Given the description of an element on the screen output the (x, y) to click on. 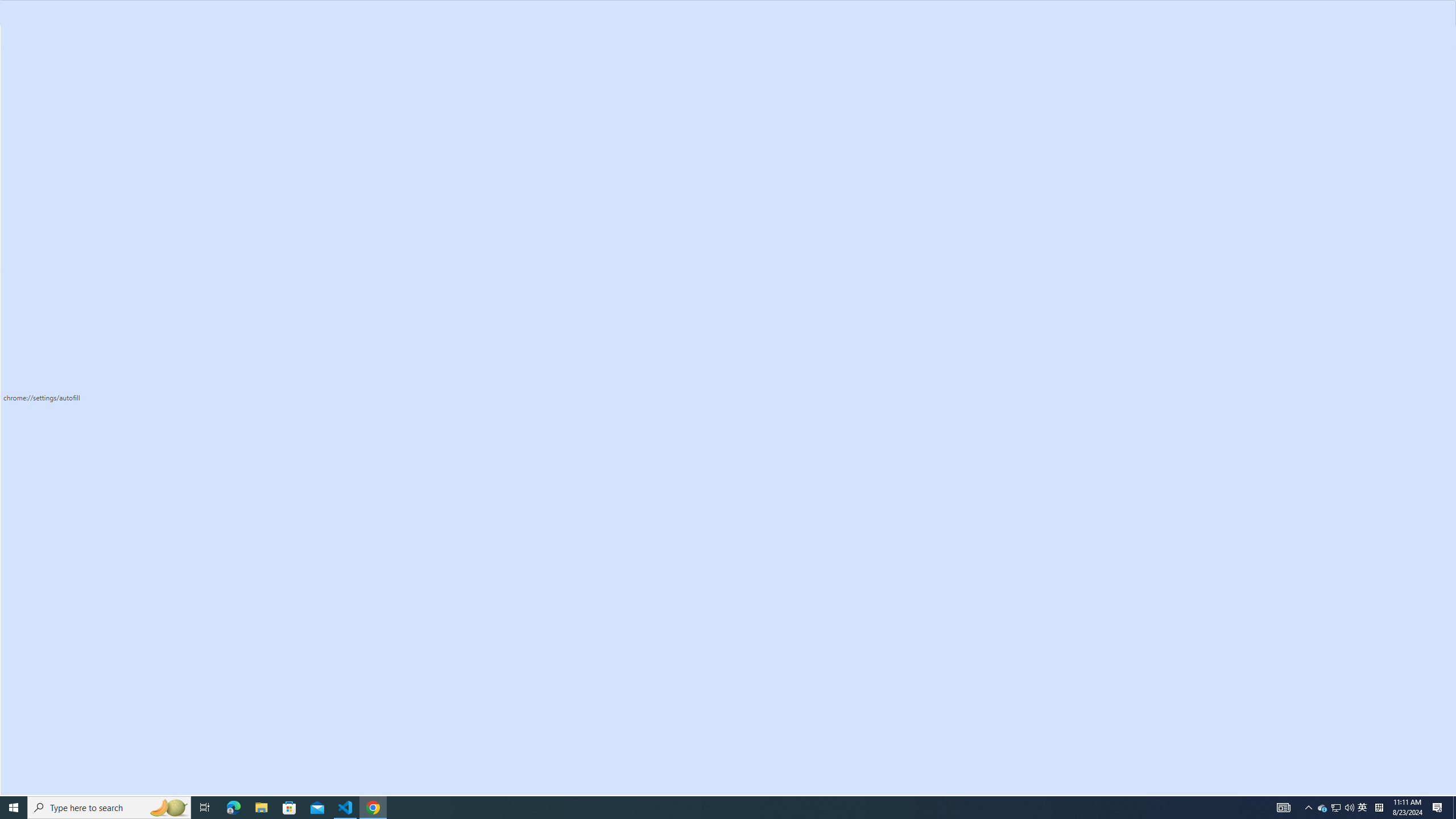
Languages (70, 288)
Search engine (70, 210)
Sign in - Google Accounts (494, 11)
Performance (70, 164)
Addresses and more (904, 186)
Payment methods (904, 158)
Search settings (735, 65)
You and Google (70, 96)
Downloads (70, 311)
